Given the description of an element on the screen output the (x, y) to click on. 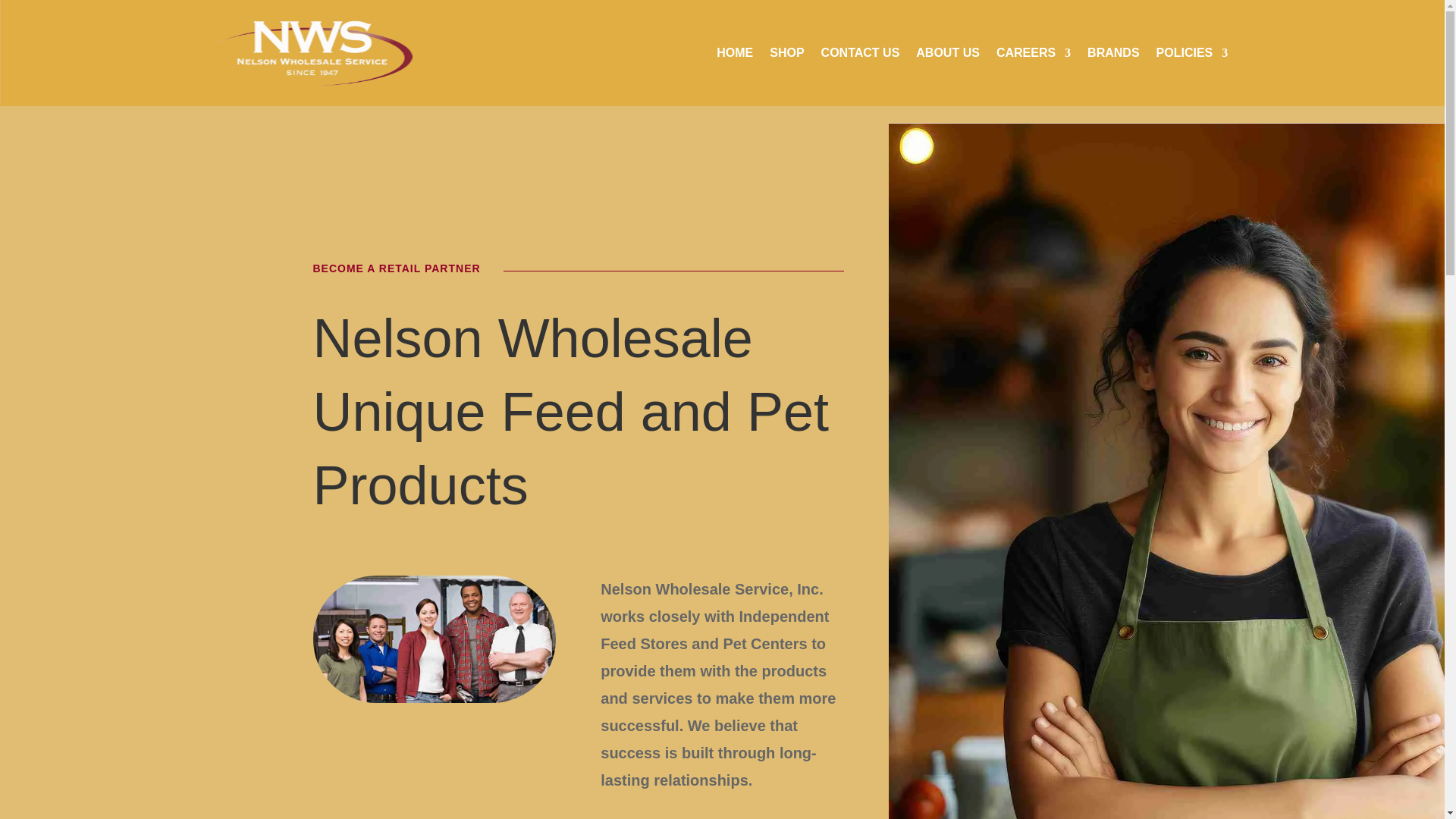
CONTACT US (860, 52)
POLICIES (1192, 52)
ABOUT US (947, 52)
CAREERS (1032, 52)
